Given the description of an element on the screen output the (x, y) to click on. 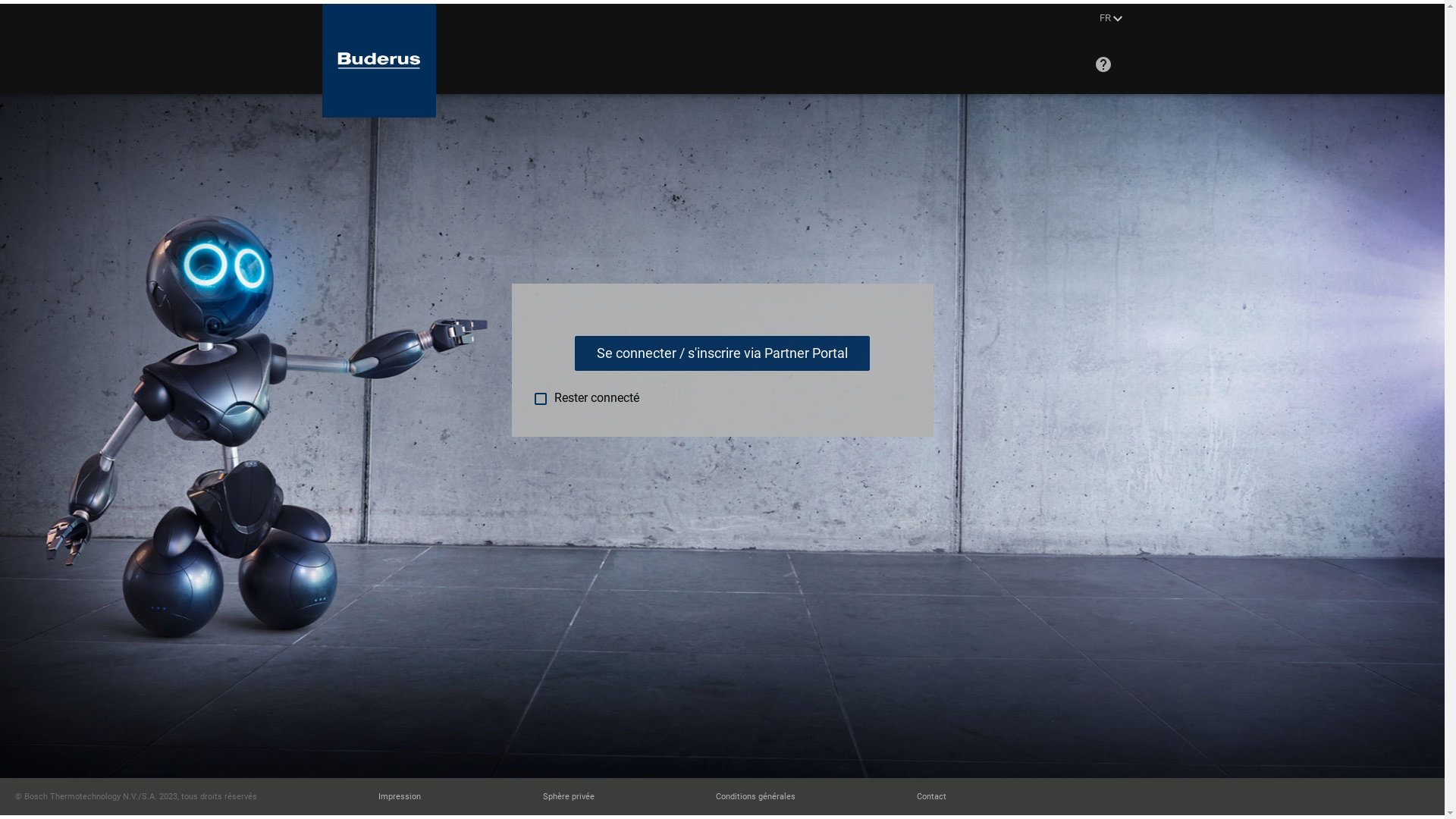
Contact Element type: text (931, 795)
Impression Element type: text (399, 795)
Se connecter / s'inscrire via Partner Portal Element type: text (721, 352)
